Given the description of an element on the screen output the (x, y) to click on. 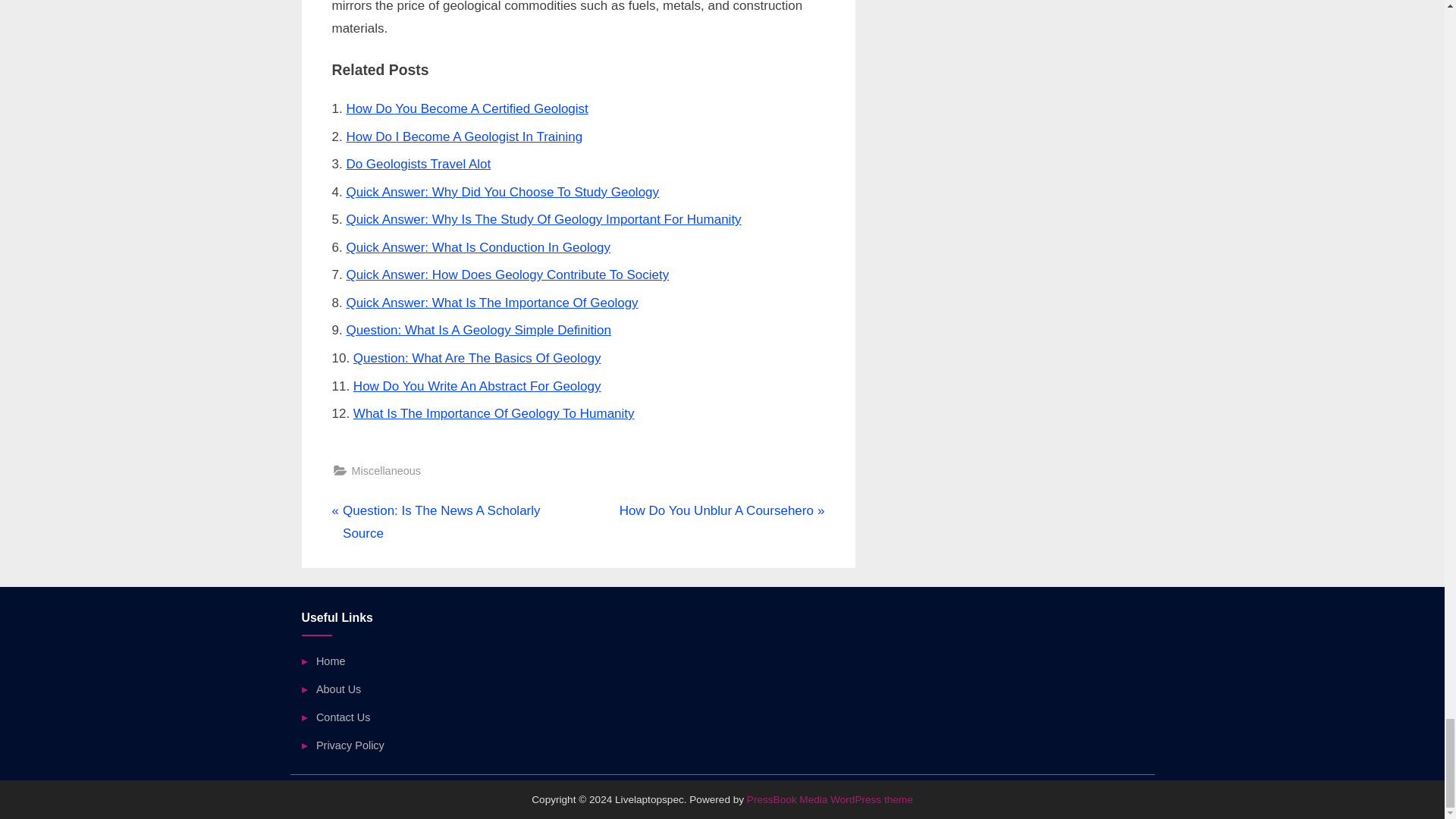
How Do You Write An Abstract For Geology (477, 386)
What Is The Importance Of Geology To Humanity (493, 413)
How Do I Become A Geologist In Training (464, 136)
Quick Answer: How Does Geology Contribute To Society (507, 274)
Quick Answer: What Is The Importance Of Geology (491, 302)
Miscellaneous (386, 470)
Question: What Are The Basics Of Geology (477, 358)
Quick Answer: What Is Conduction In Geology (478, 247)
Quick Answer: What Is Conduction In Geology (478, 247)
